Given the description of an element on the screen output the (x, y) to click on. 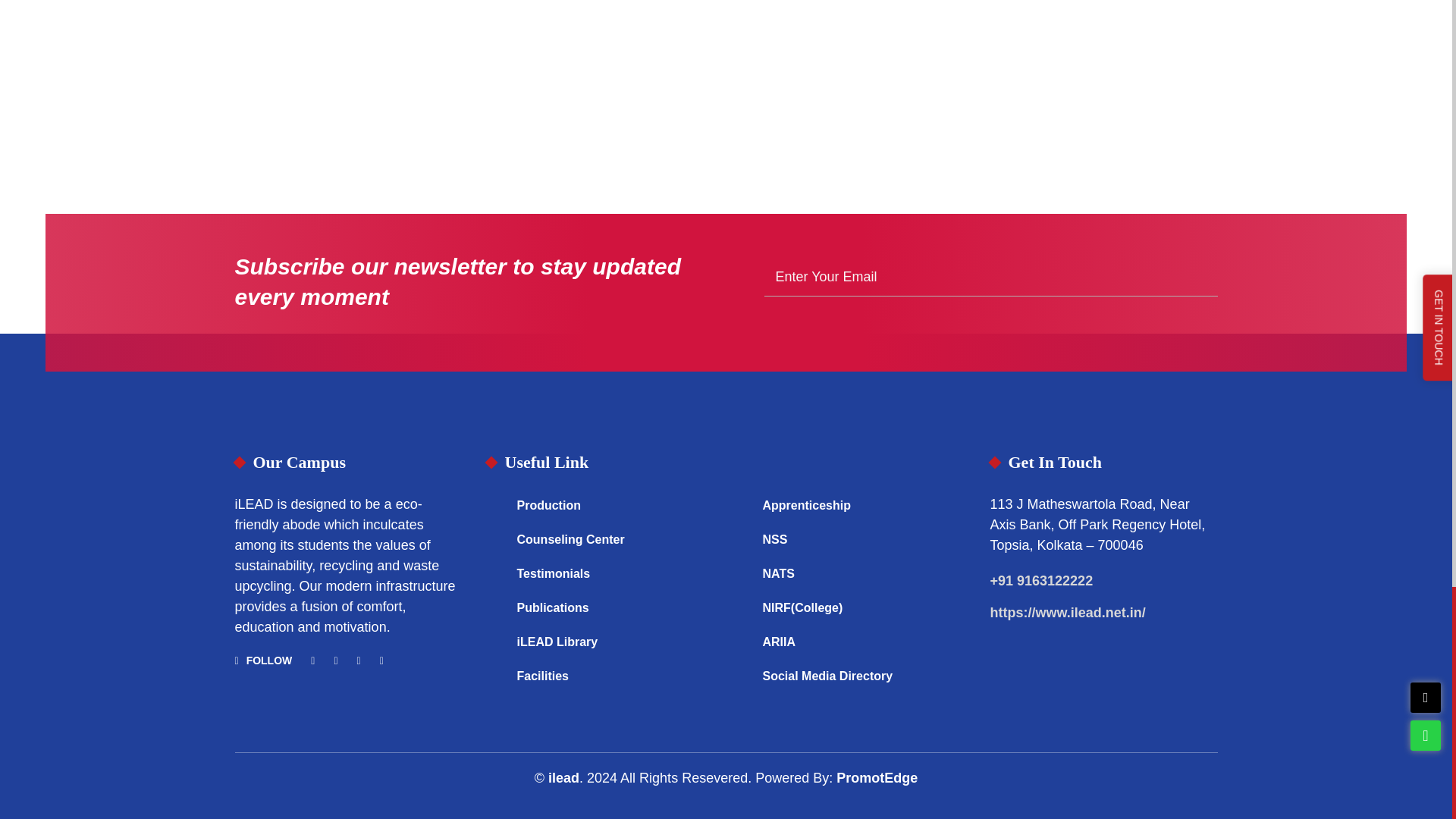
counselling center icon (497, 539)
apprenticeship icon ilead (743, 505)
publication (497, 608)
testimonial icon (497, 573)
production icon (497, 505)
facilities icon (497, 676)
nats icon ilead (743, 573)
nirf icon ilead (743, 608)
library icon ilead (497, 641)
Send (1199, 277)
ncc icon ilead (743, 539)
